Given the description of an element on the screen output the (x, y) to click on. 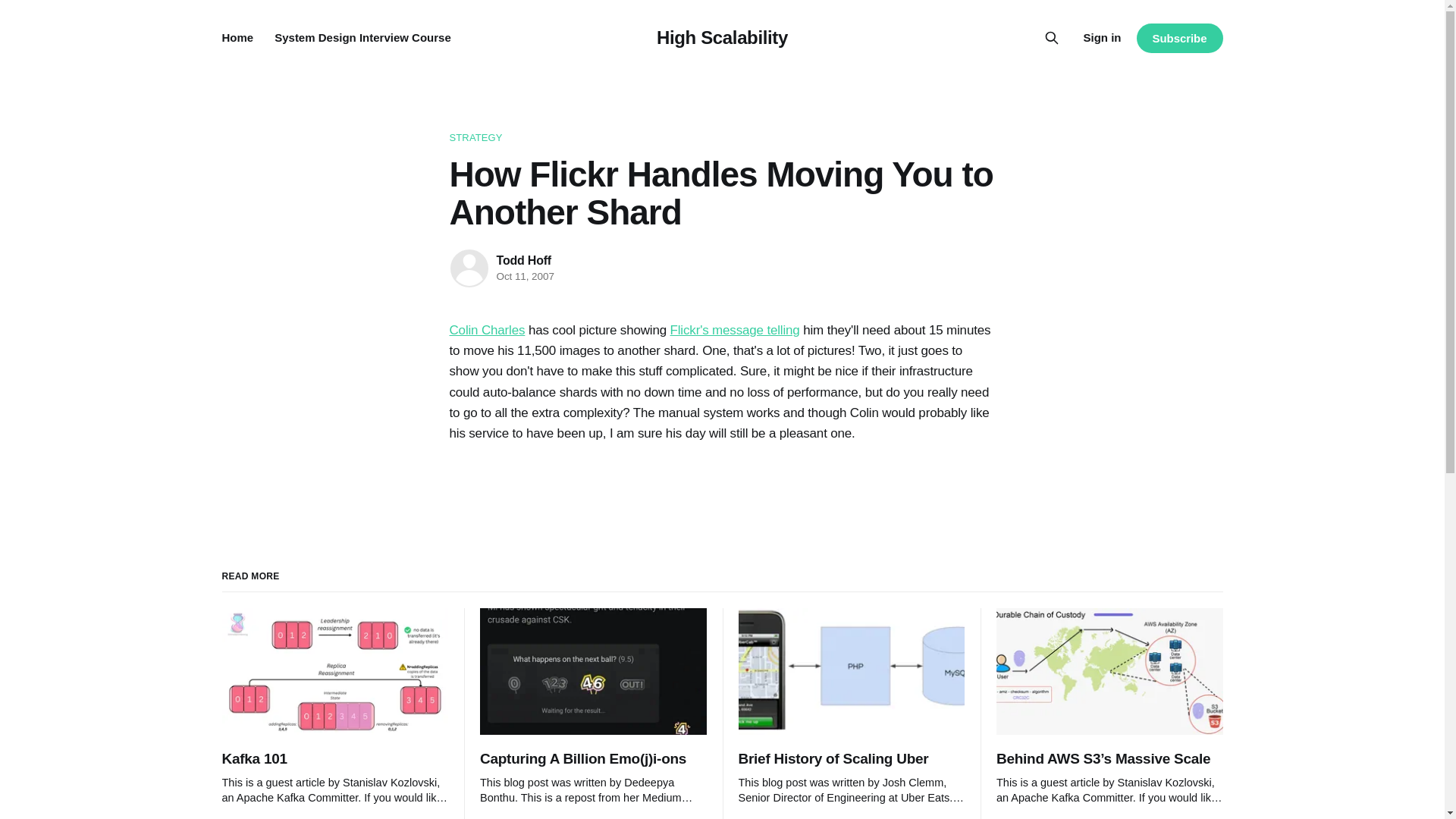
STRATEGY (721, 138)
Sign in (1102, 37)
Flickr's message telling (734, 329)
Colin Charles (486, 329)
Todd Hoff (523, 259)
Subscribe (1179, 37)
System Design Interview Course (363, 37)
High Scalability (721, 37)
